Given the description of an element on the screen output the (x, y) to click on. 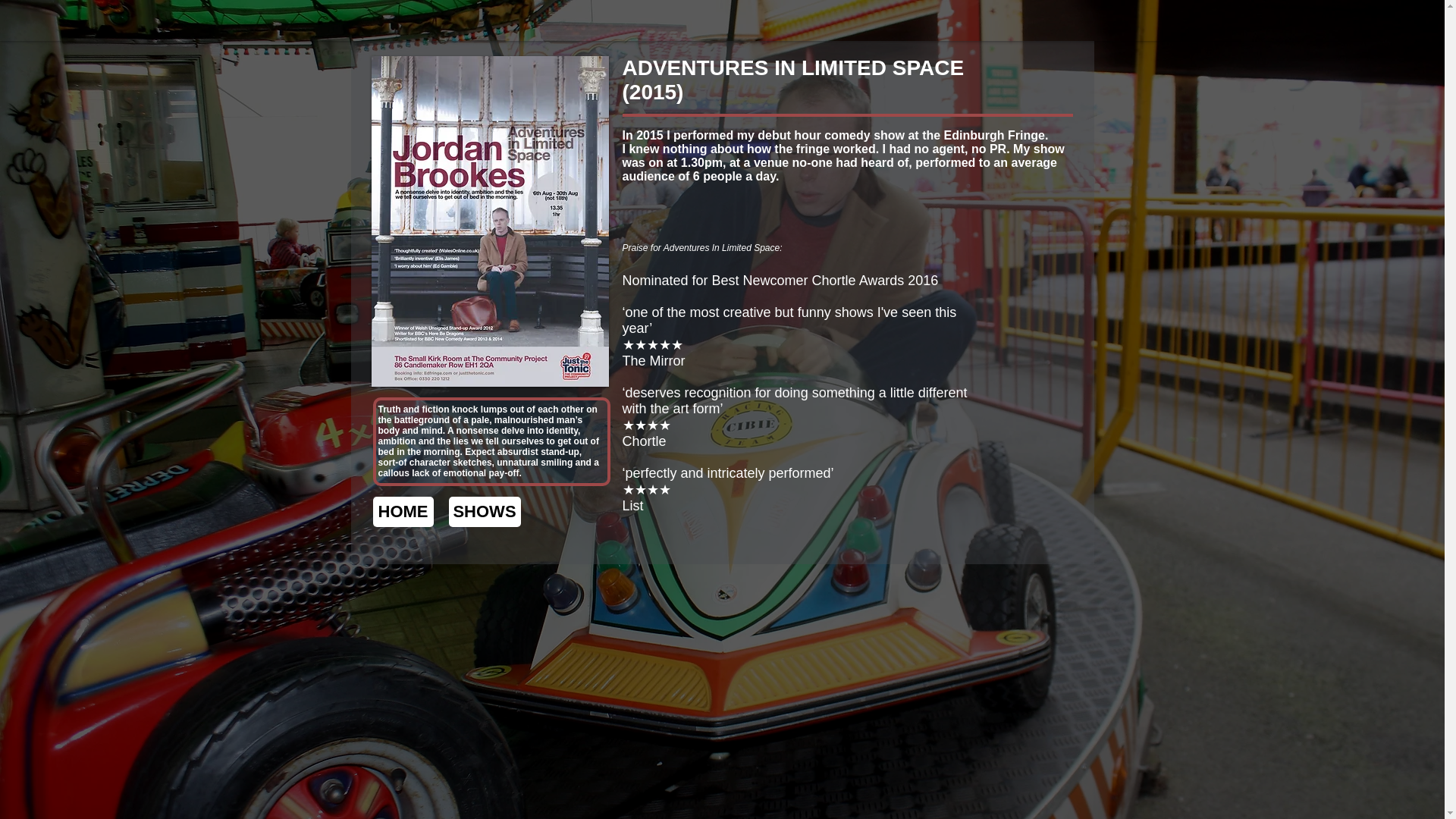
HOME (402, 511)
SHOWS (484, 511)
